Given the description of an element on the screen output the (x, y) to click on. 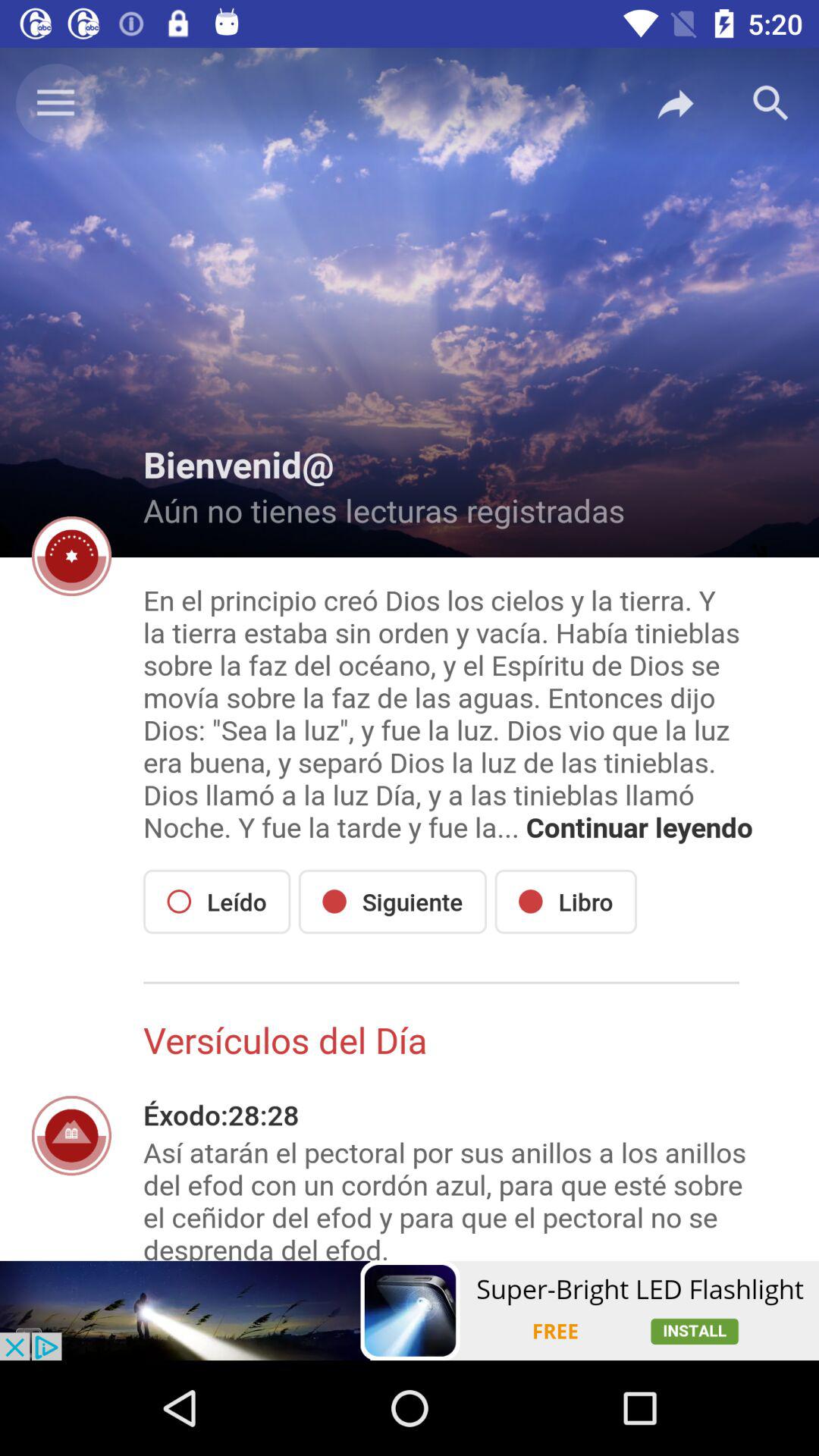
tap the item below the en el principio (216, 901)
